Given the description of an element on the screen output the (x, y) to click on. 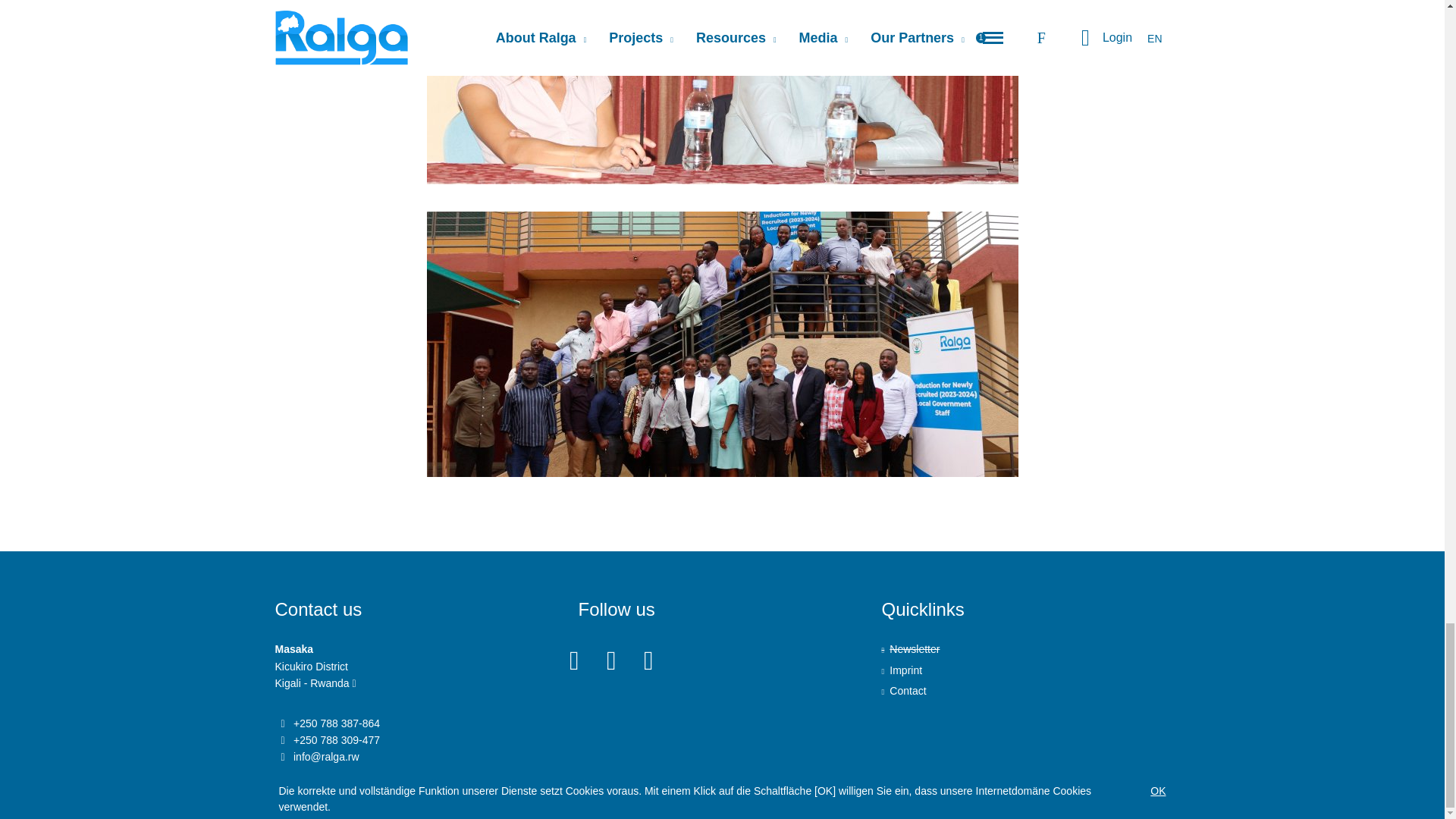
Link target is inaccessible (1024, 648)
Go to Webseite "Contact us" (1024, 690)
